Given the description of an element on the screen output the (x, y) to click on. 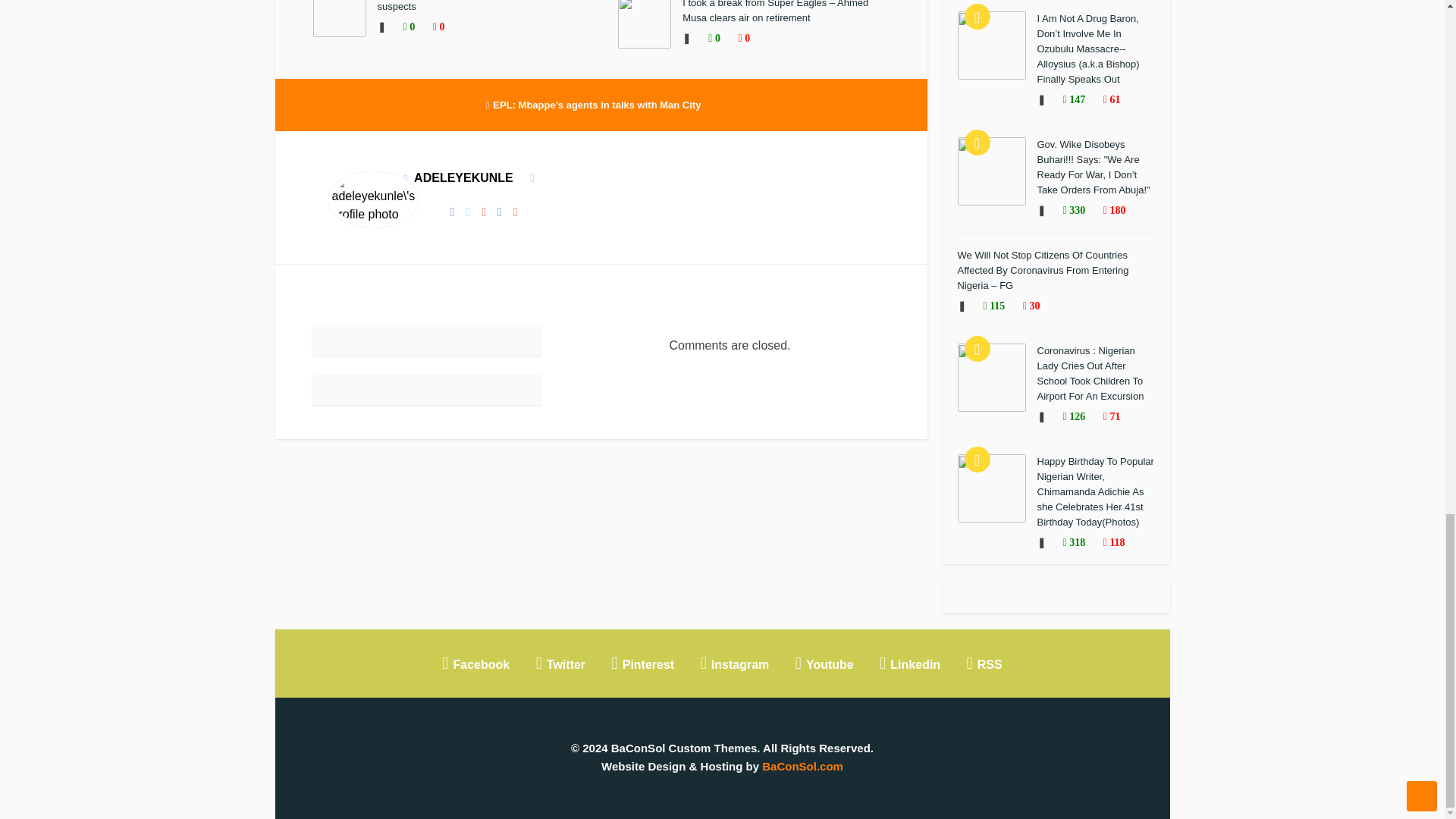
Posts by adeleyekunle (463, 177)
